Given the description of an element on the screen output the (x, y) to click on. 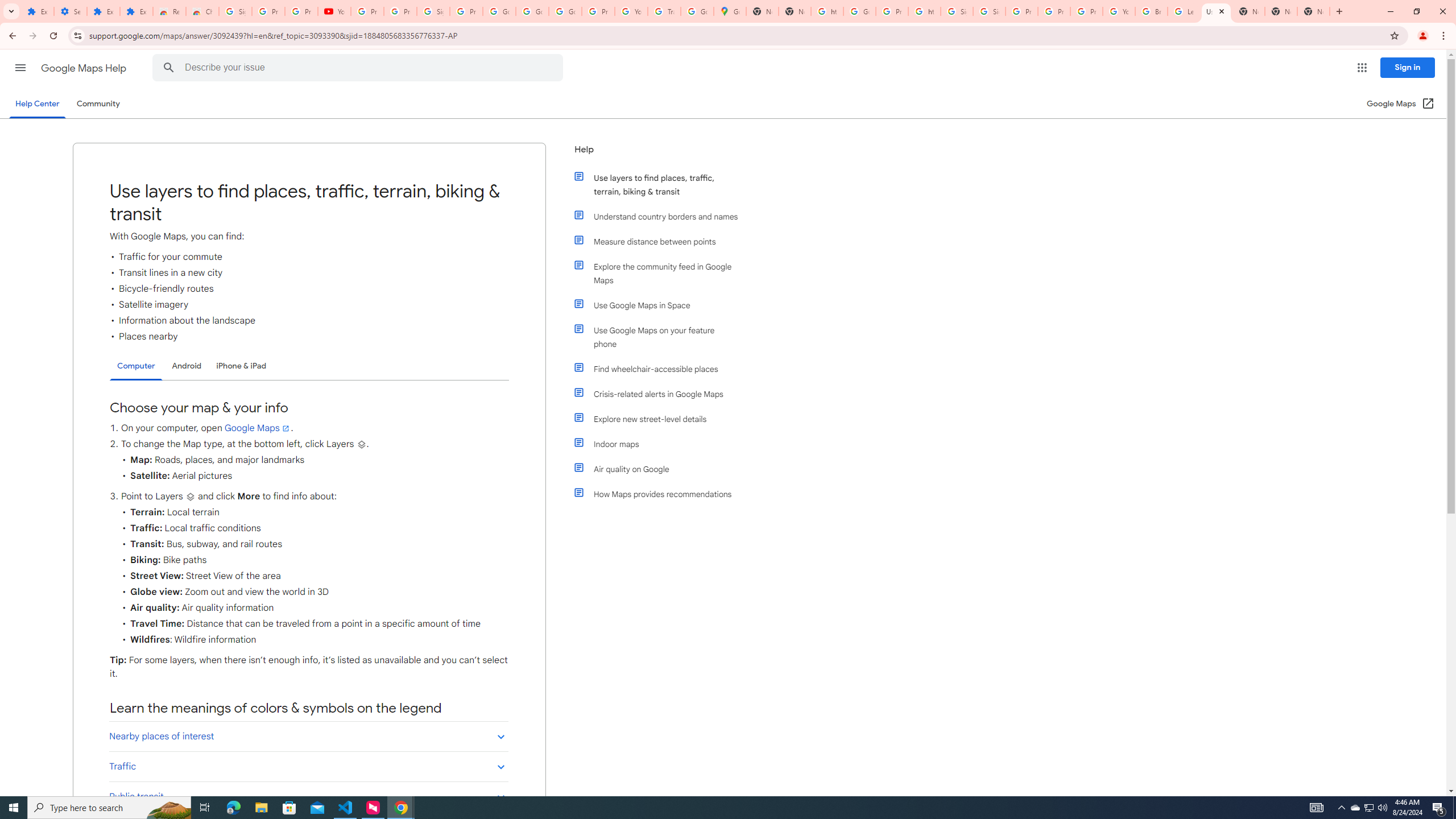
Layers (189, 496)
Google apps (1362, 67)
Crisis-related alerts in Google Maps (661, 394)
Sign in - Google Accounts (957, 11)
New Tab (1313, 11)
Browse Chrome as a guest - Computer - Google Chrome Help (1150, 11)
Google Account (499, 11)
Chrome Web Store - Themes (202, 11)
YouTube (631, 11)
Extensions (37, 11)
Use Google Maps on your feature phone (661, 336)
Restore (1416, 11)
Sign in - Google Accounts (989, 11)
